Given the description of an element on the screen output the (x, y) to click on. 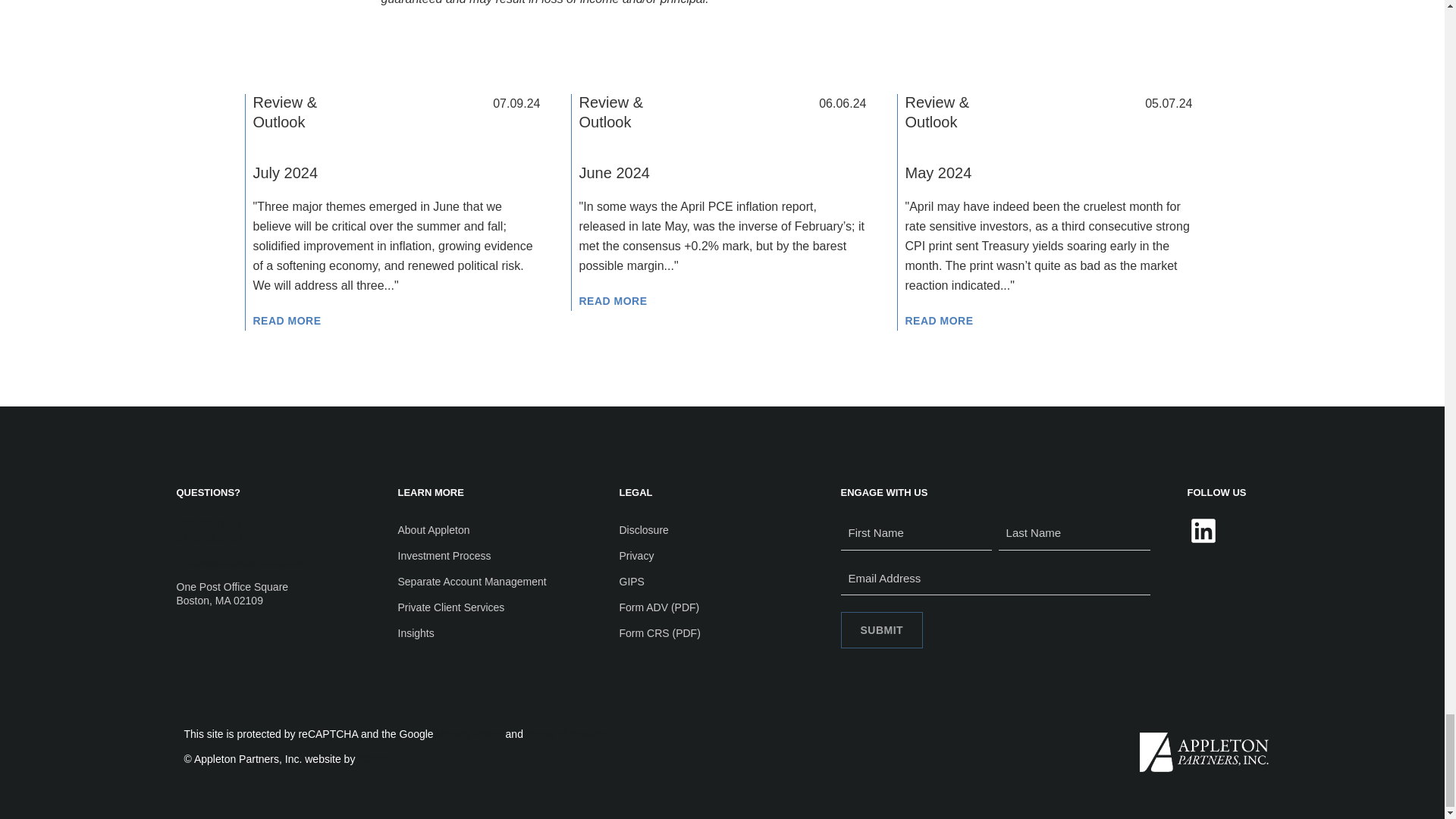
Submit (881, 629)
